Given the description of an element on the screen output the (x, y) to click on. 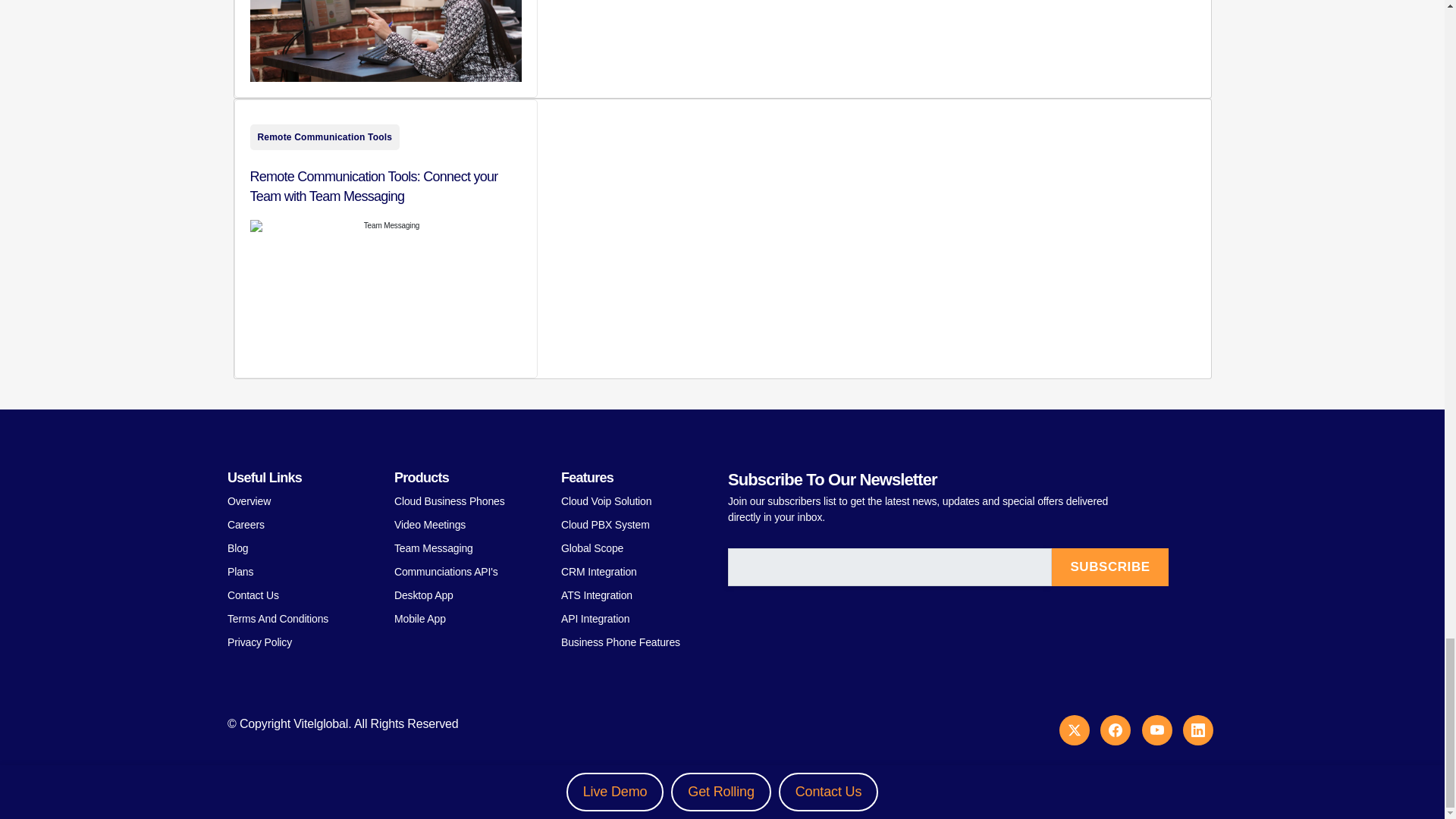
Subscribe (1110, 566)
